Given the description of an element on the screen output the (x, y) to click on. 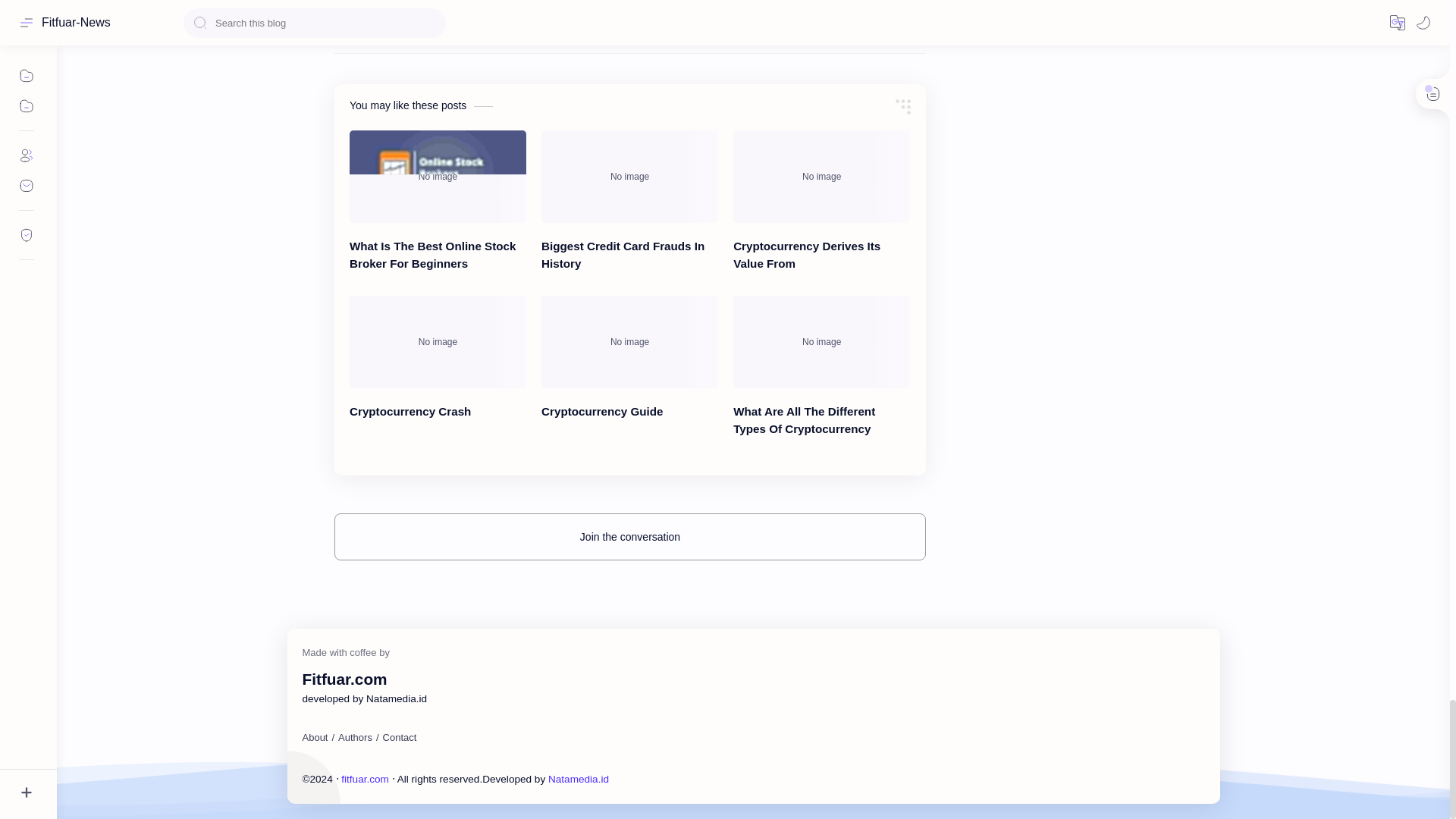
Biggest Credit Card Frauds In History (629, 176)
What Is The Best Online Stock Broker For Beginners (437, 176)
Cryptocurrency Crash (437, 341)
Cryptocurrency Guide (629, 341)
Cryptocurrency Derives Its Value From (821, 176)
What Are All The Different Types Of Cryptocurrency (821, 341)
